Given the description of an element on the screen output the (x, y) to click on. 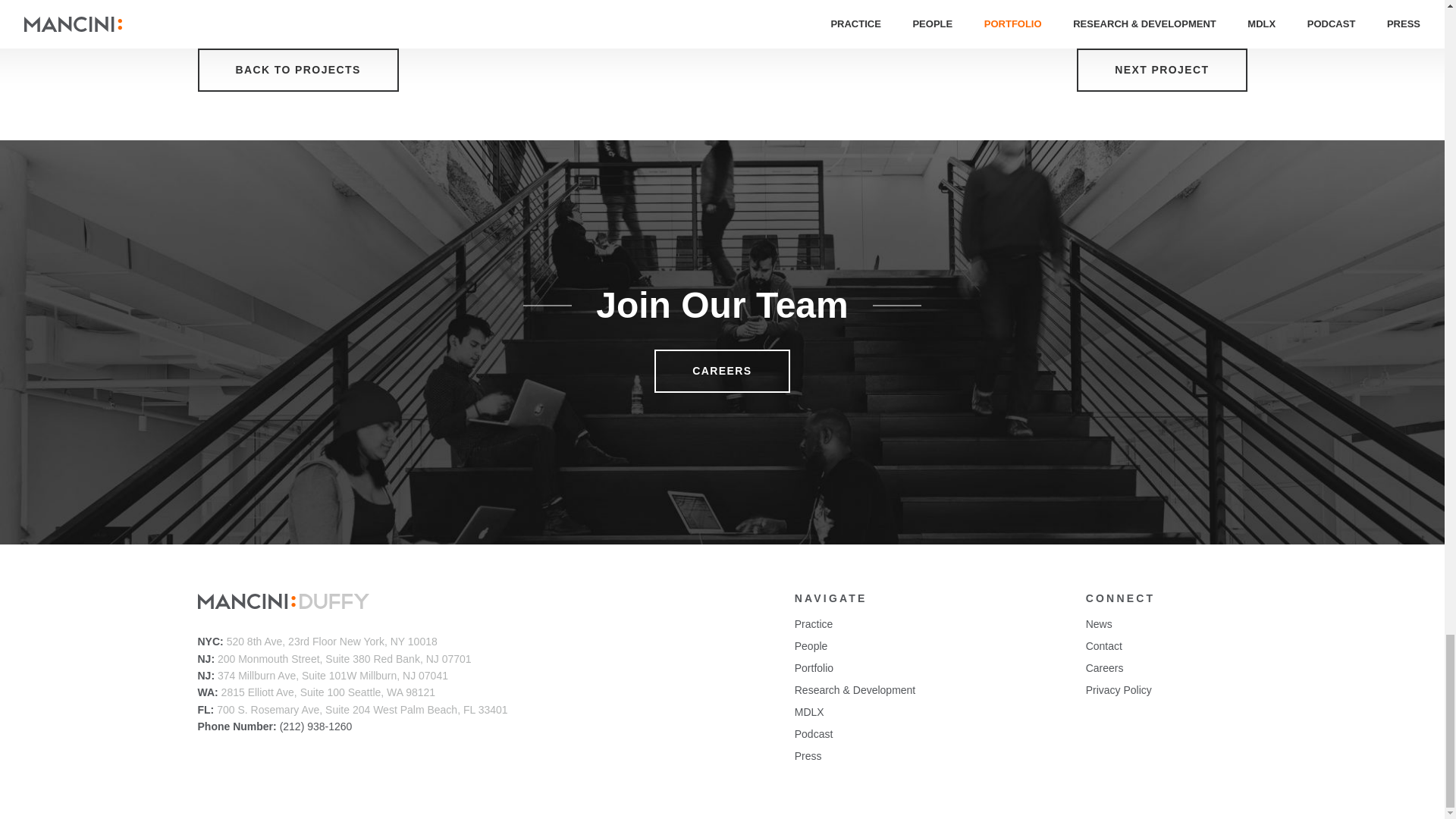
NEXT PROJECT (1161, 69)
BACK TO PROJECTS (296, 69)
CAREERS (721, 371)
